Given the description of an element on the screen output the (x, y) to click on. 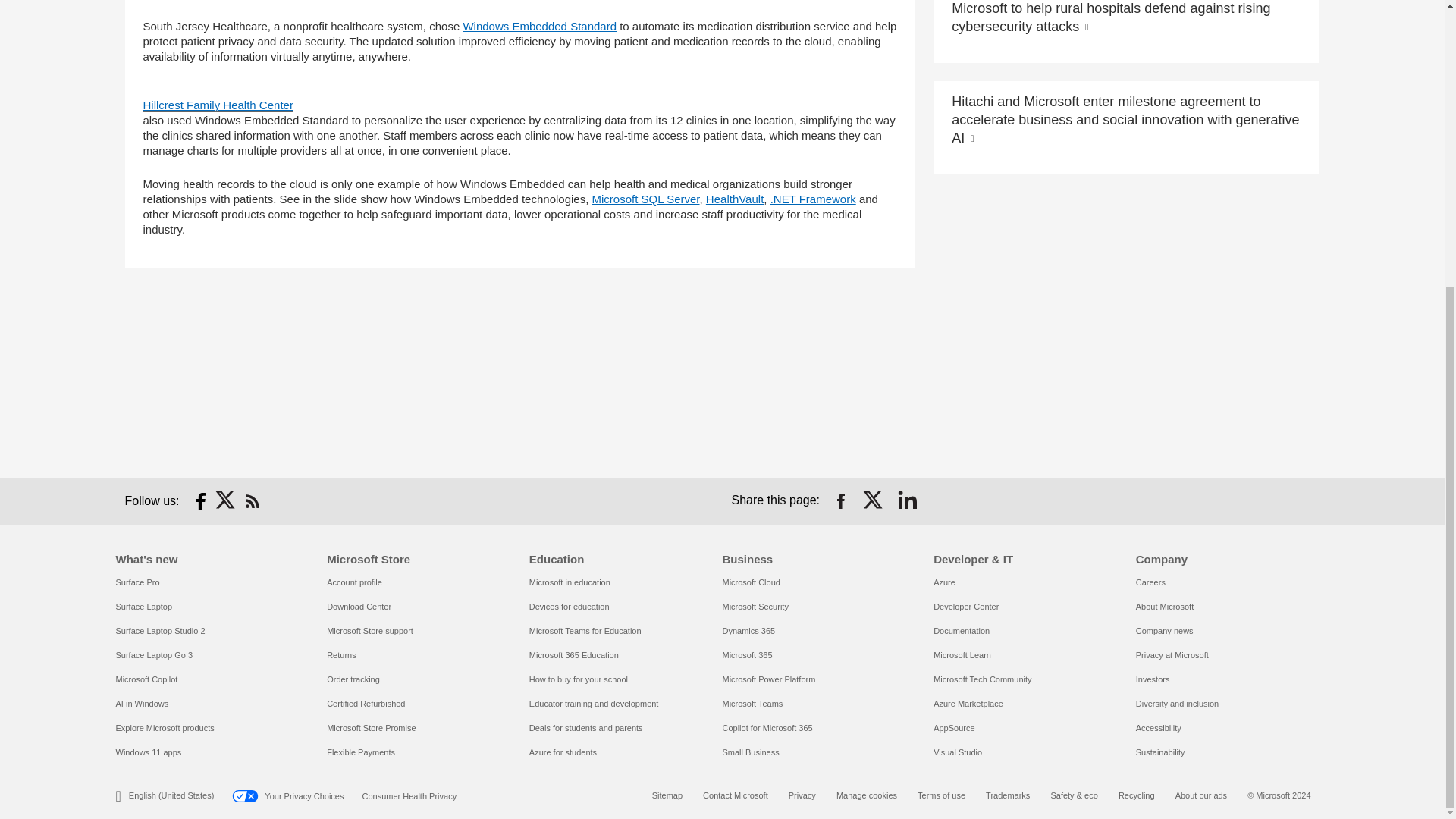
Follow on Twitter (226, 500)
Share on Twitter (873, 500)
Follow on Facebook (200, 500)
RSS Subscription (252, 500)
Share on LinkedIn (907, 500)
Share on Facebook (840, 500)
